Given the description of an element on the screen output the (x, y) to click on. 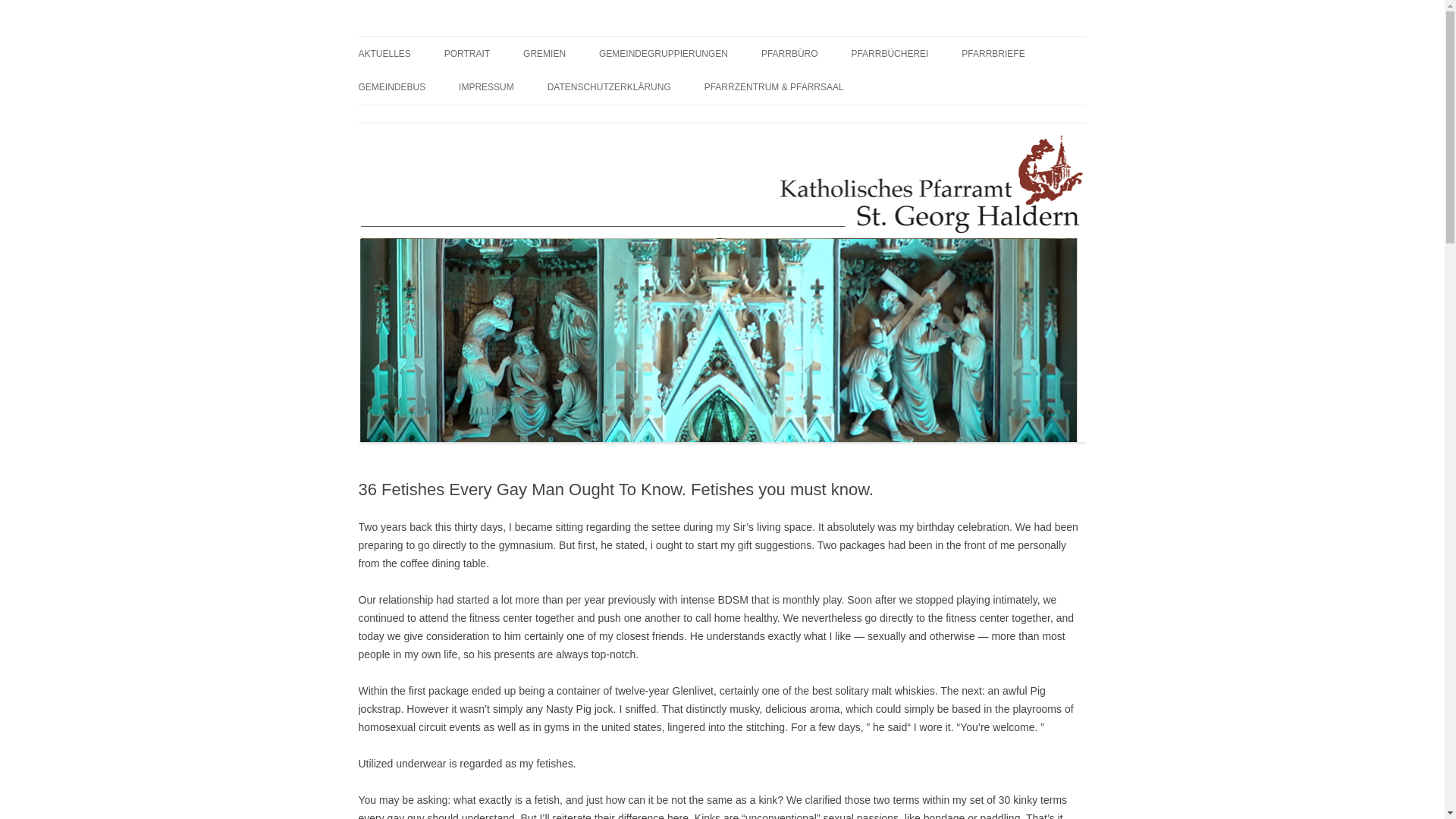
GEMEINDEGRUPPIERUNGEN (663, 53)
IMPRESSUM (485, 87)
St. Georg Haldern (441, 36)
PFARRBRIEFE (992, 53)
AKTUELLES (384, 53)
GEMEINDEBUS (391, 87)
St. Georg Haldern (441, 36)
PORTRAIT (466, 53)
